Given the description of an element on the screen output the (x, y) to click on. 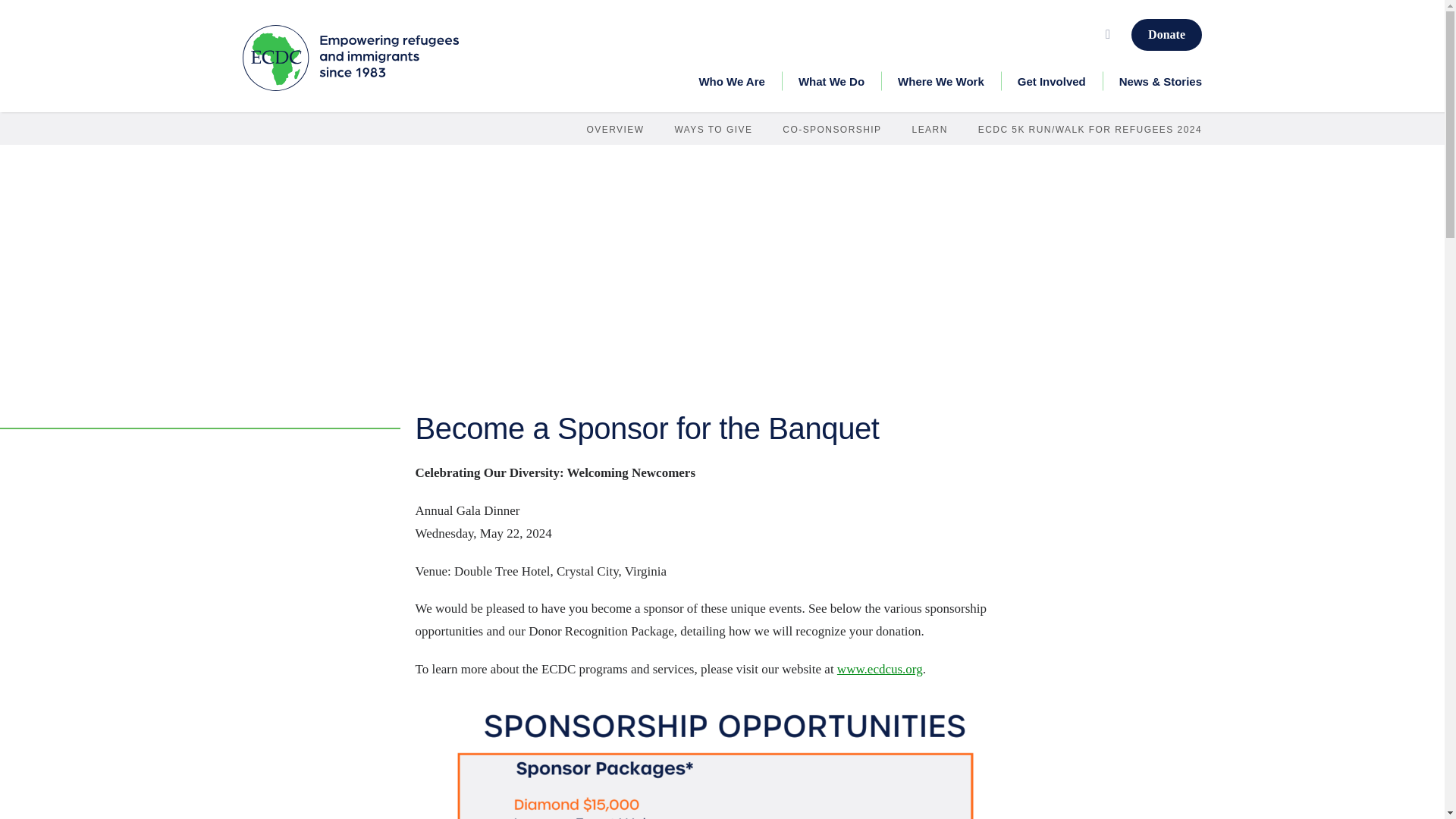
LEARN (929, 129)
CO-SPONSORSHIP (831, 129)
OVERVIEW (615, 129)
Who We Are (731, 81)
Donate (1166, 34)
www.ecdcus.org (880, 668)
Where We Work (940, 81)
Get Involved (1051, 81)
WAYS TO GIVE (713, 129)
What We Do (830, 81)
